Given the description of an element on the screen output the (x, y) to click on. 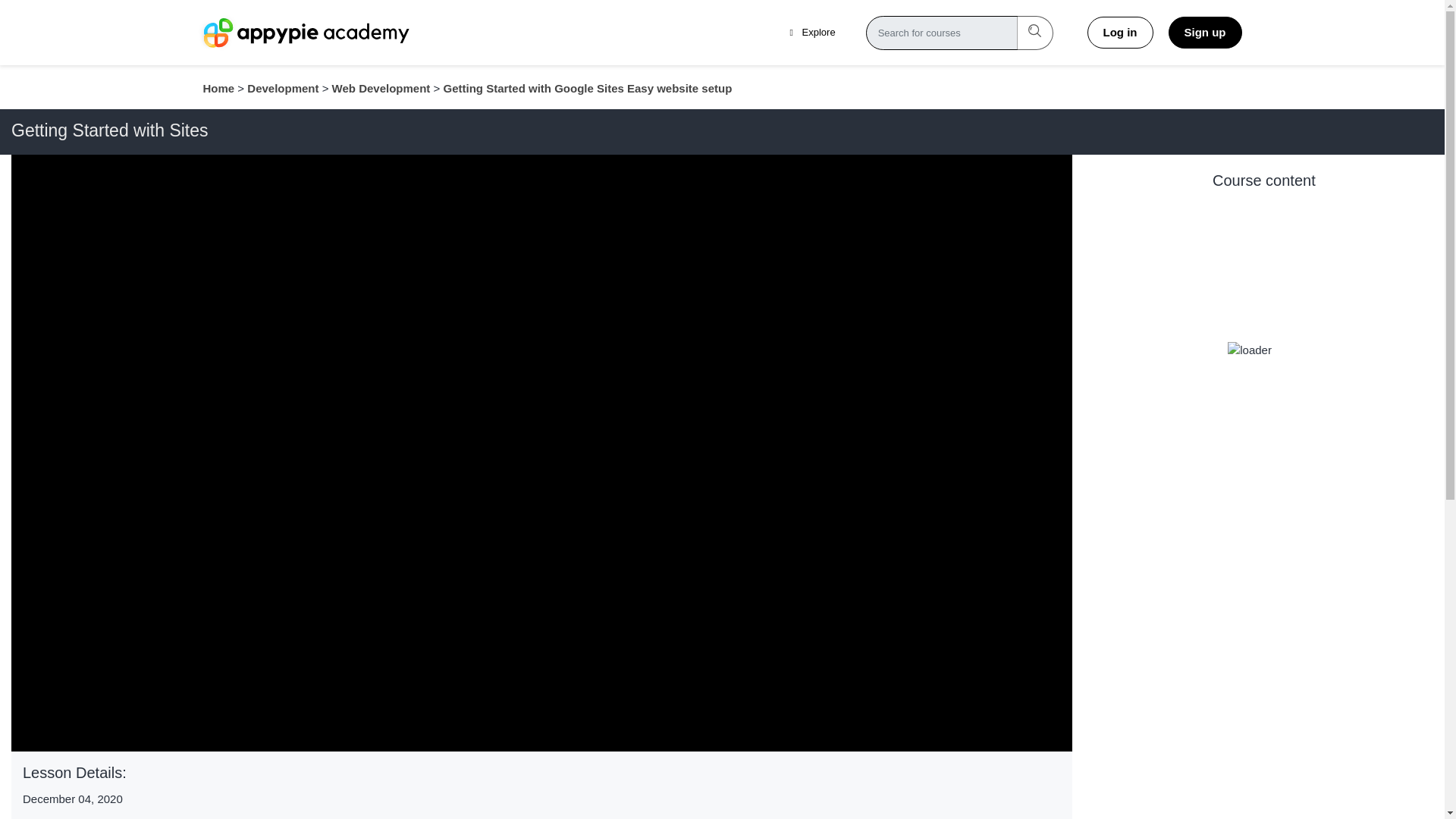
Explore (812, 32)
search (1034, 32)
